Given the description of an element on the screen output the (x, y) to click on. 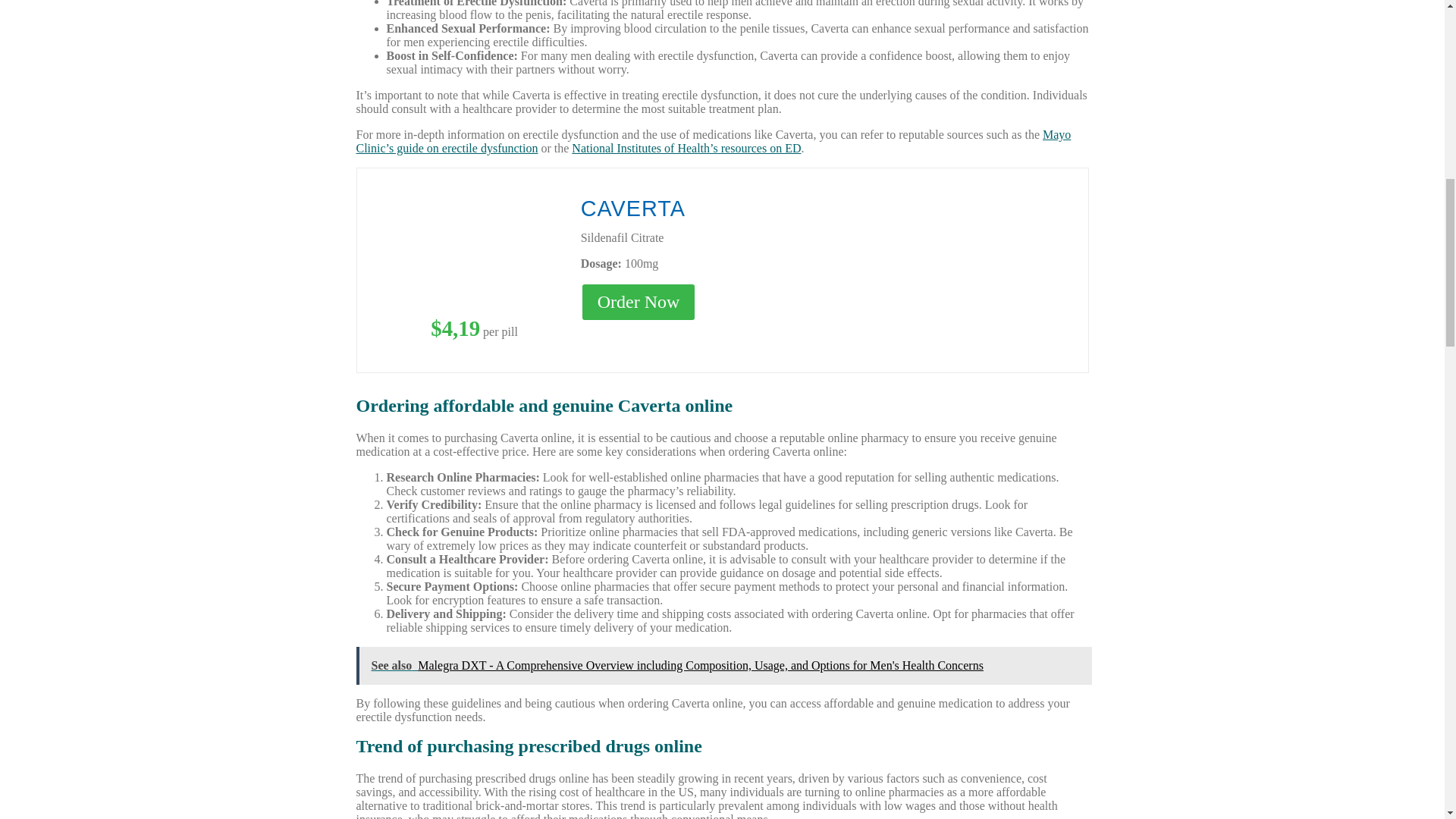
Order Now (638, 301)
